Given the description of an element on the screen output the (x, y) to click on. 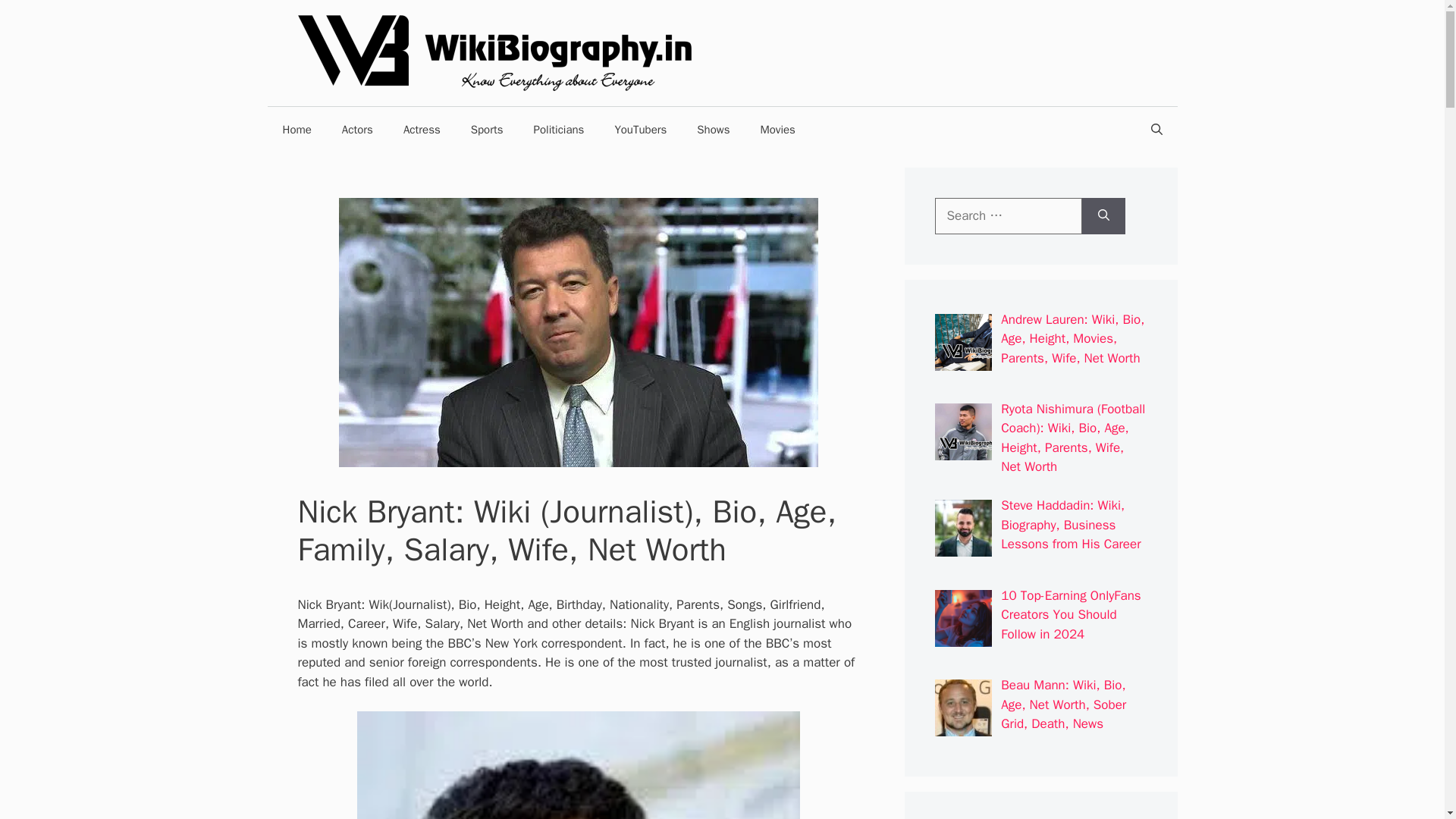
Politicians (558, 129)
Movies (776, 129)
YouTubers (639, 129)
Actors (357, 129)
Shows (712, 129)
Actress (421, 129)
Search for: (1007, 216)
Sports (486, 129)
Home (296, 129)
10 Top-Earning OnlyFans Creators You Should Follow in 2024 (1070, 615)
